Given the description of an element on the screen output the (x, y) to click on. 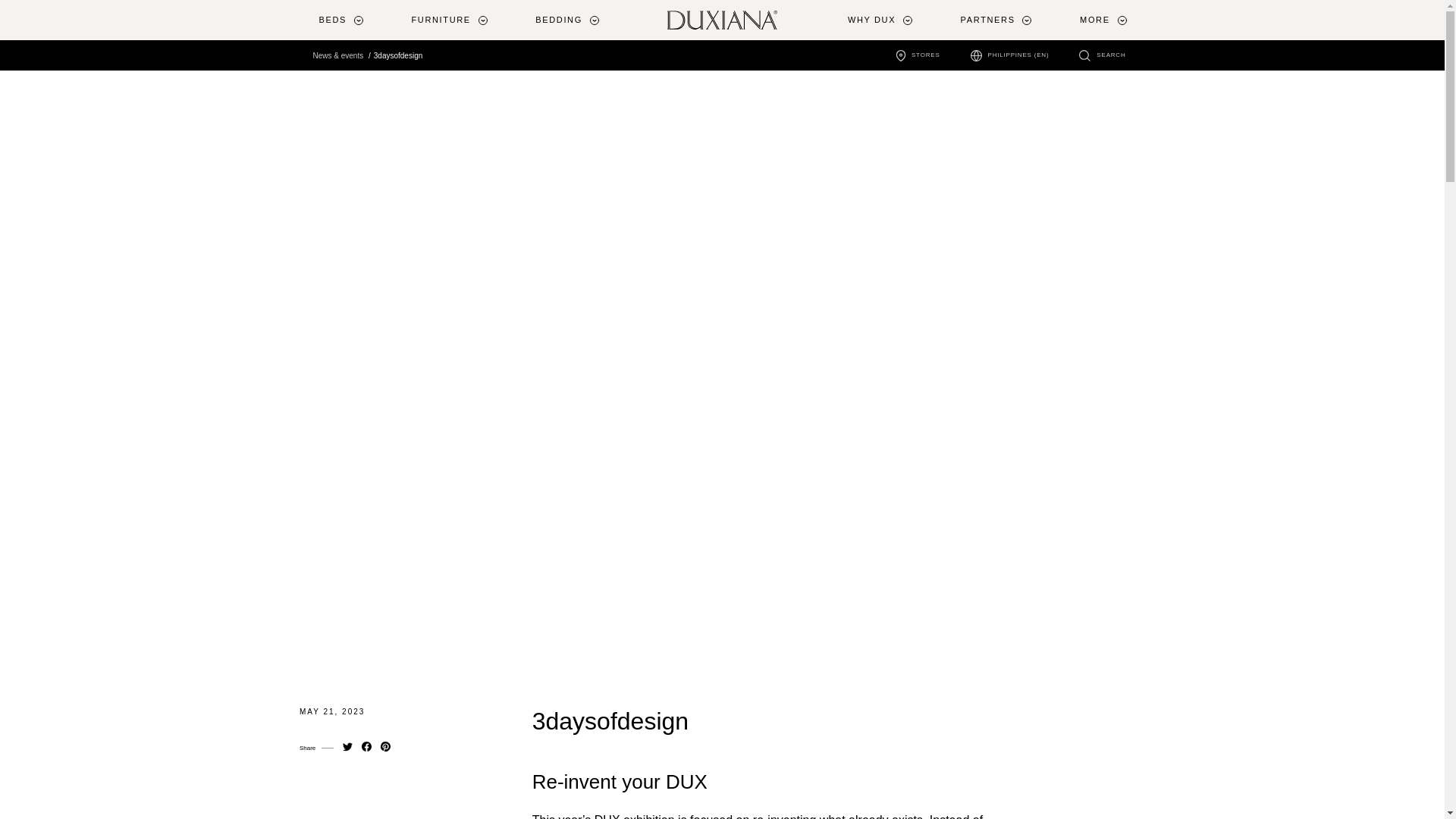
FURNITURE (448, 20)
BEDS (340, 20)
Back to startpage (721, 20)
BEDDING (566, 20)
